Given the description of an element on the screen output the (x, y) to click on. 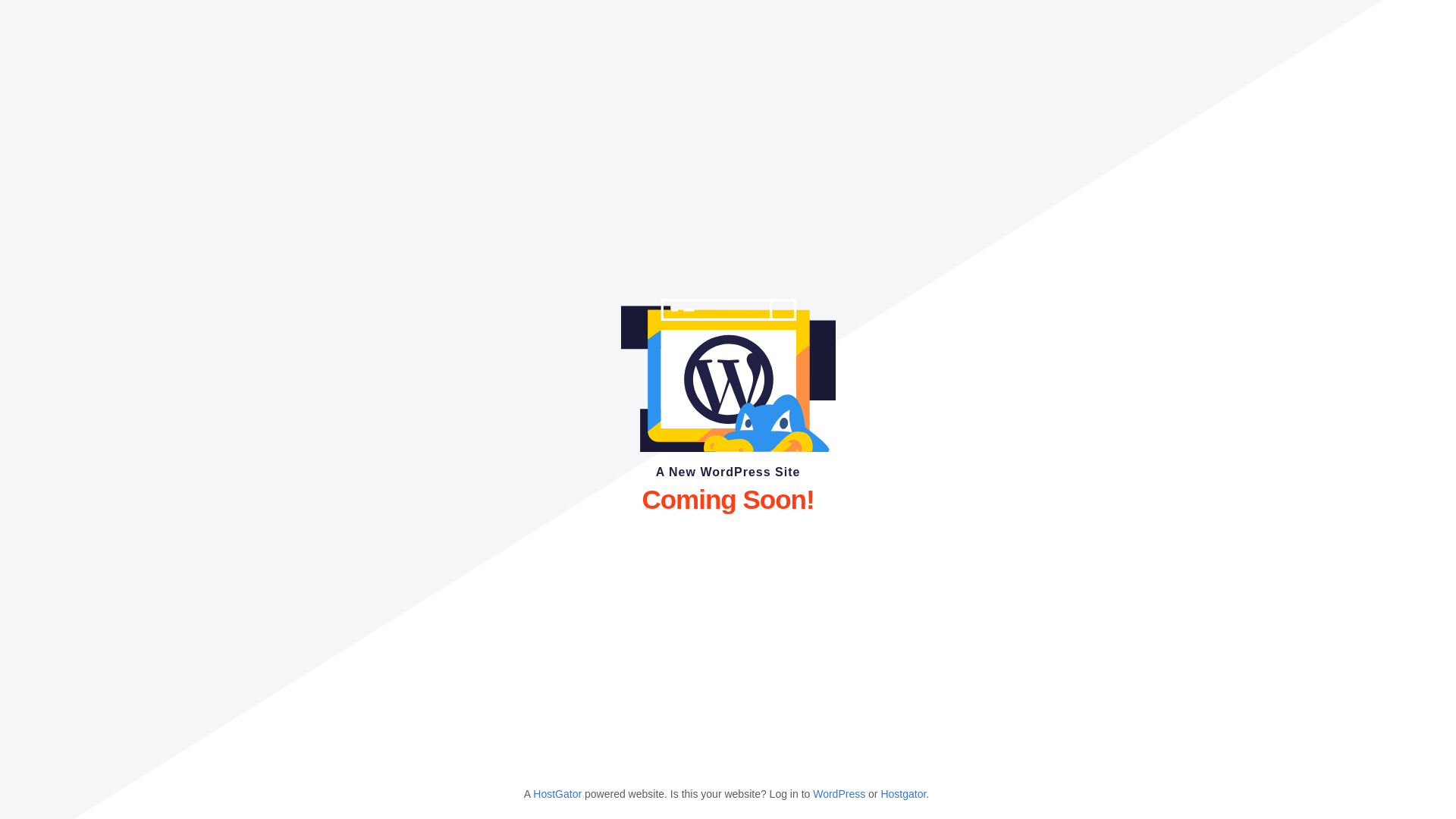
HostGator Element type: text (557, 793)
Hostgator Element type: text (902, 793)
WordPress Element type: text (838, 793)
